Given the description of an element on the screen output the (x, y) to click on. 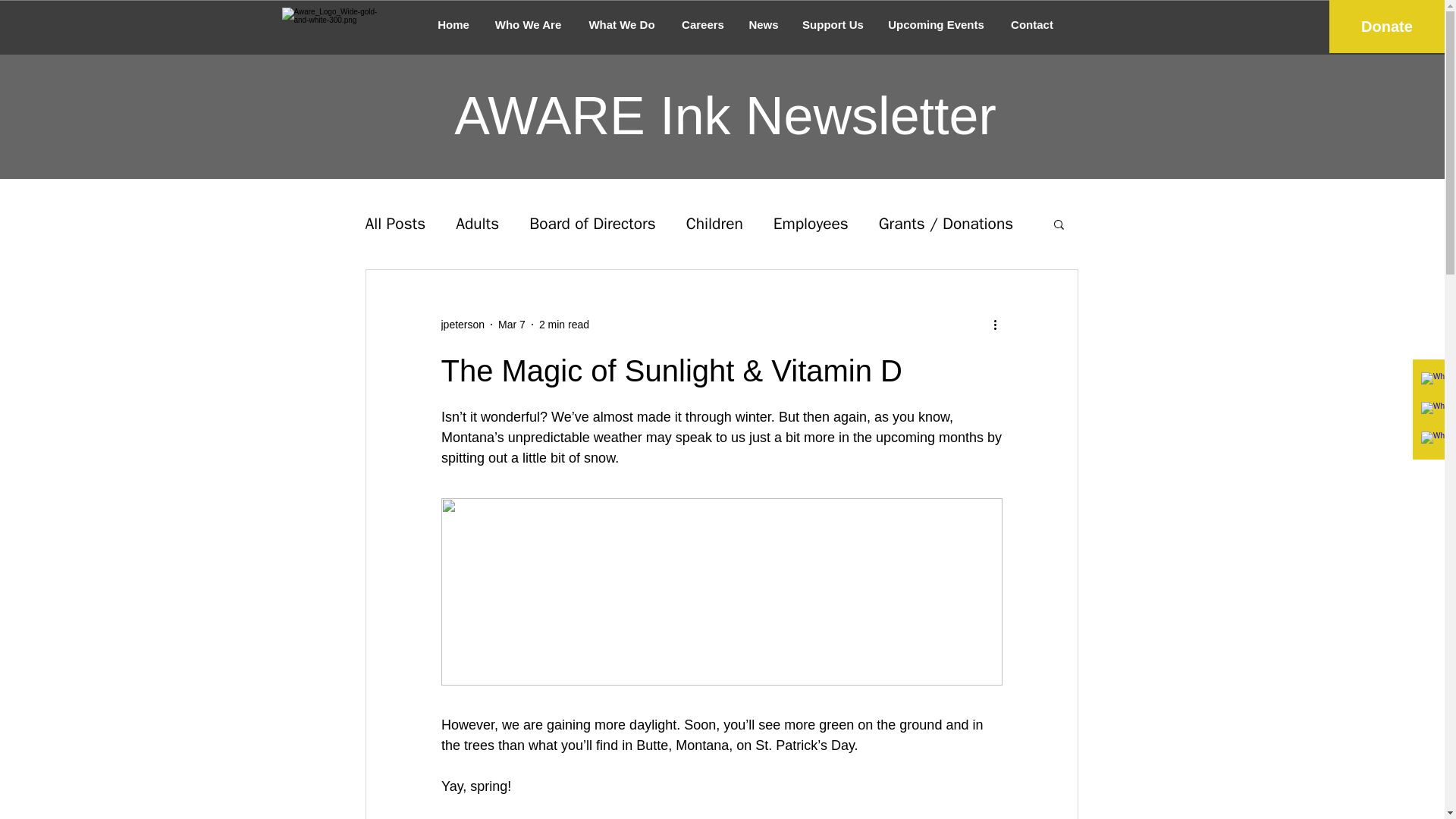
Contact (1031, 24)
News (763, 24)
Upcoming Events (935, 24)
Who We Are (528, 24)
2 min read (563, 324)
What We Do (622, 24)
Careers (702, 24)
Board of Directors (592, 223)
Children (713, 223)
Employees (810, 223)
